Given the description of an element on the screen output the (x, y) to click on. 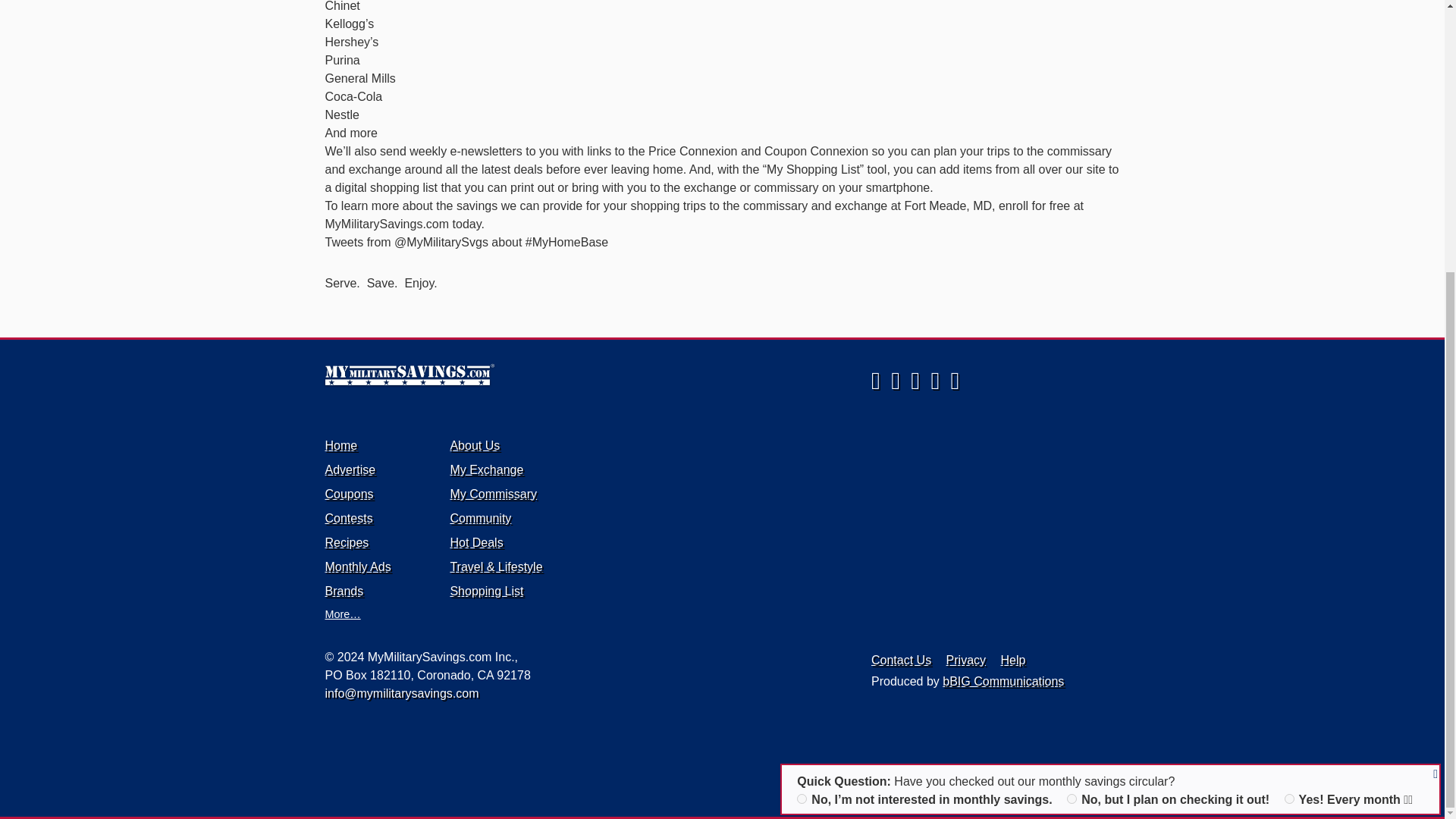
Community (480, 517)
Contests (348, 517)
Home (584, 375)
Monthly Ads (357, 566)
Home (340, 445)
Recipes (346, 542)
My Commissary (493, 493)
Hot Deals (475, 542)
Brands (343, 590)
1209 (801, 398)
